Given the description of an element on the screen output the (x, y) to click on. 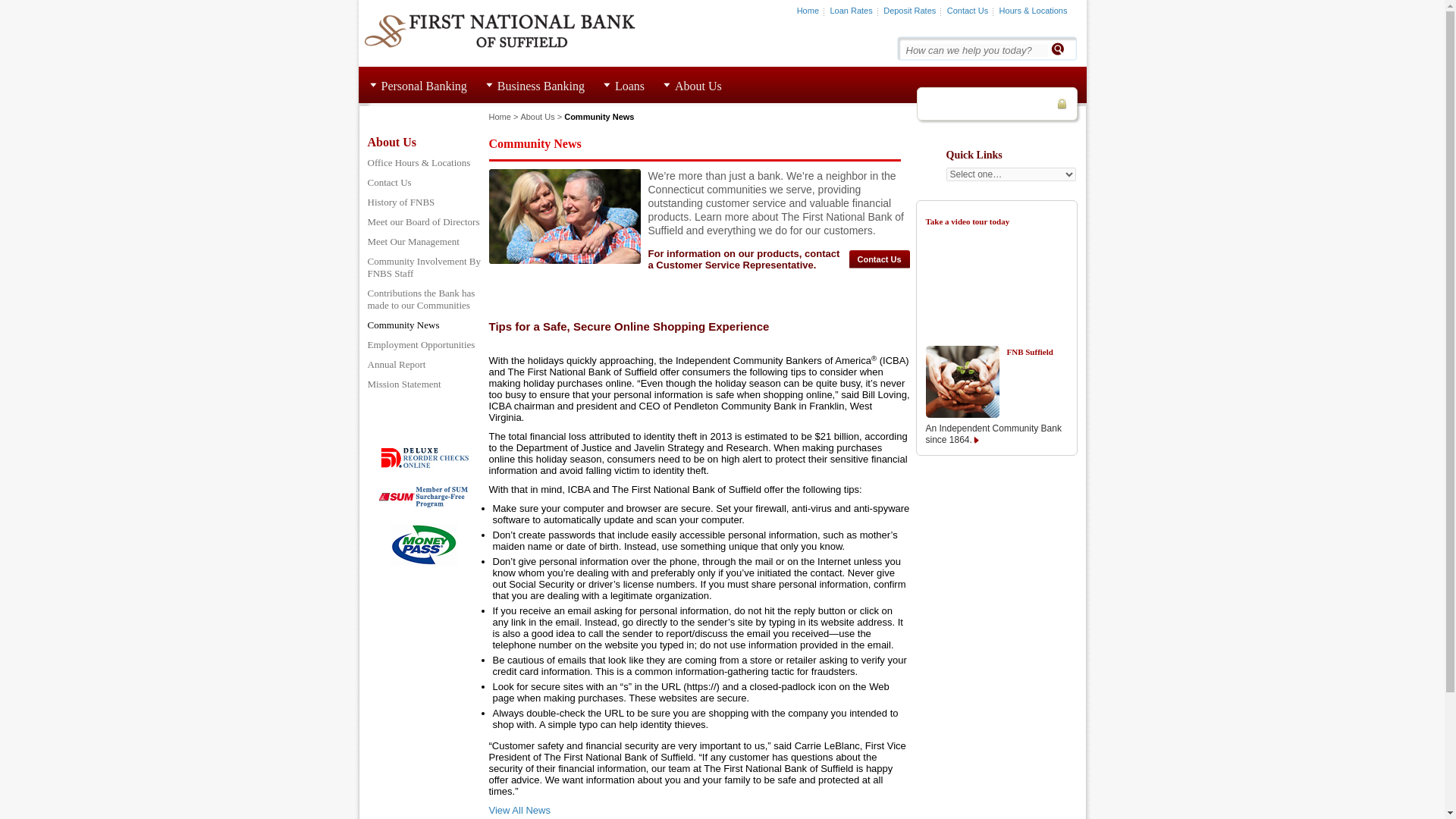
Search FNBankSuffield.com (975, 50)
Loan Rates (850, 10)
Personal Banking (423, 86)
Loans (629, 86)
Business Banking (540, 86)
Search (1057, 49)
History (961, 381)
Search (1057, 49)
Contact Us (967, 10)
Home (807, 10)
